Given the description of an element on the screen output the (x, y) to click on. 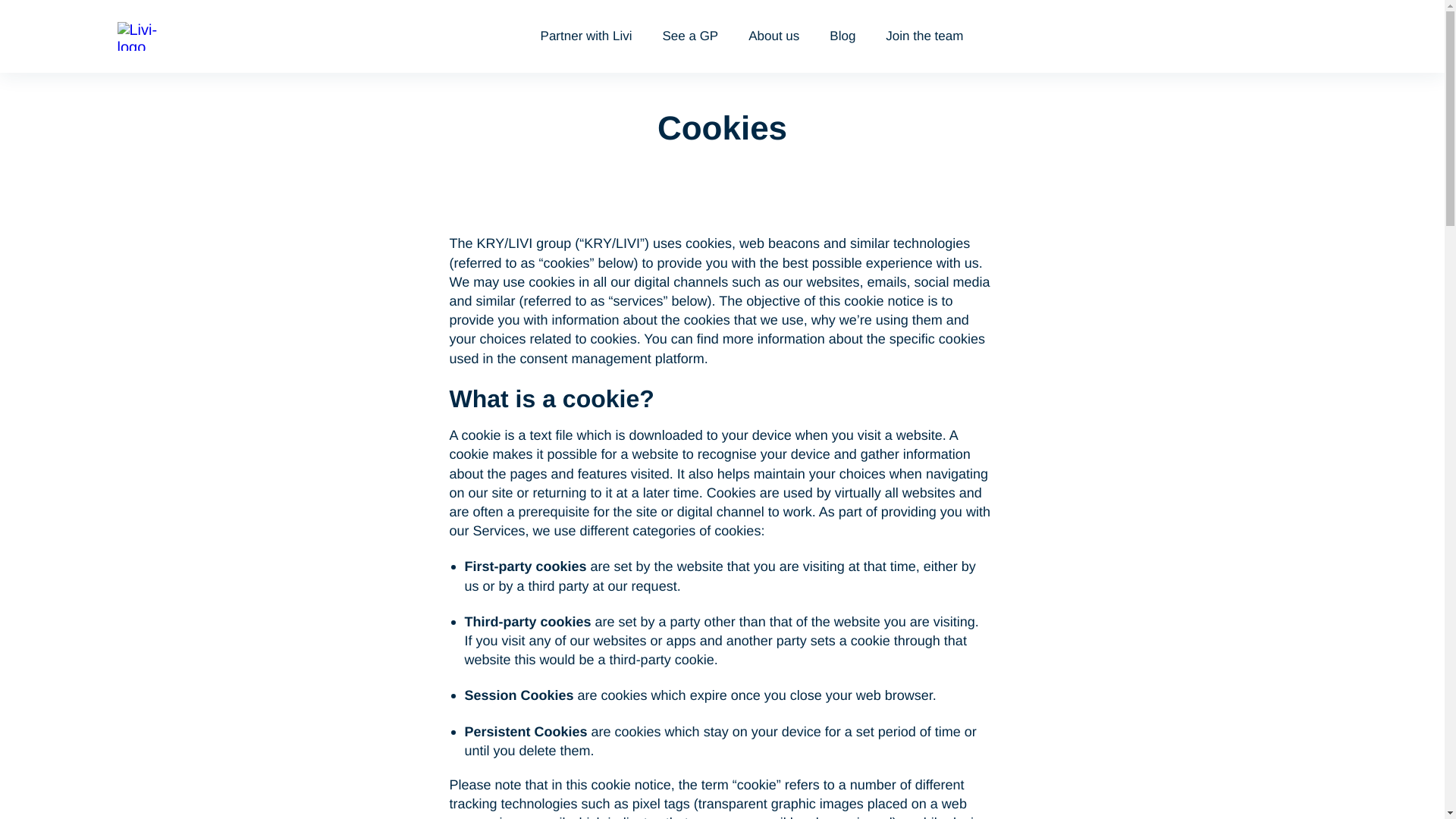
Livi (144, 36)
Partner with Livi (585, 36)
Partner with Livi (585, 36)
Join the team (923, 36)
Join the team (923, 36)
